Given the description of an element on the screen output the (x, y) to click on. 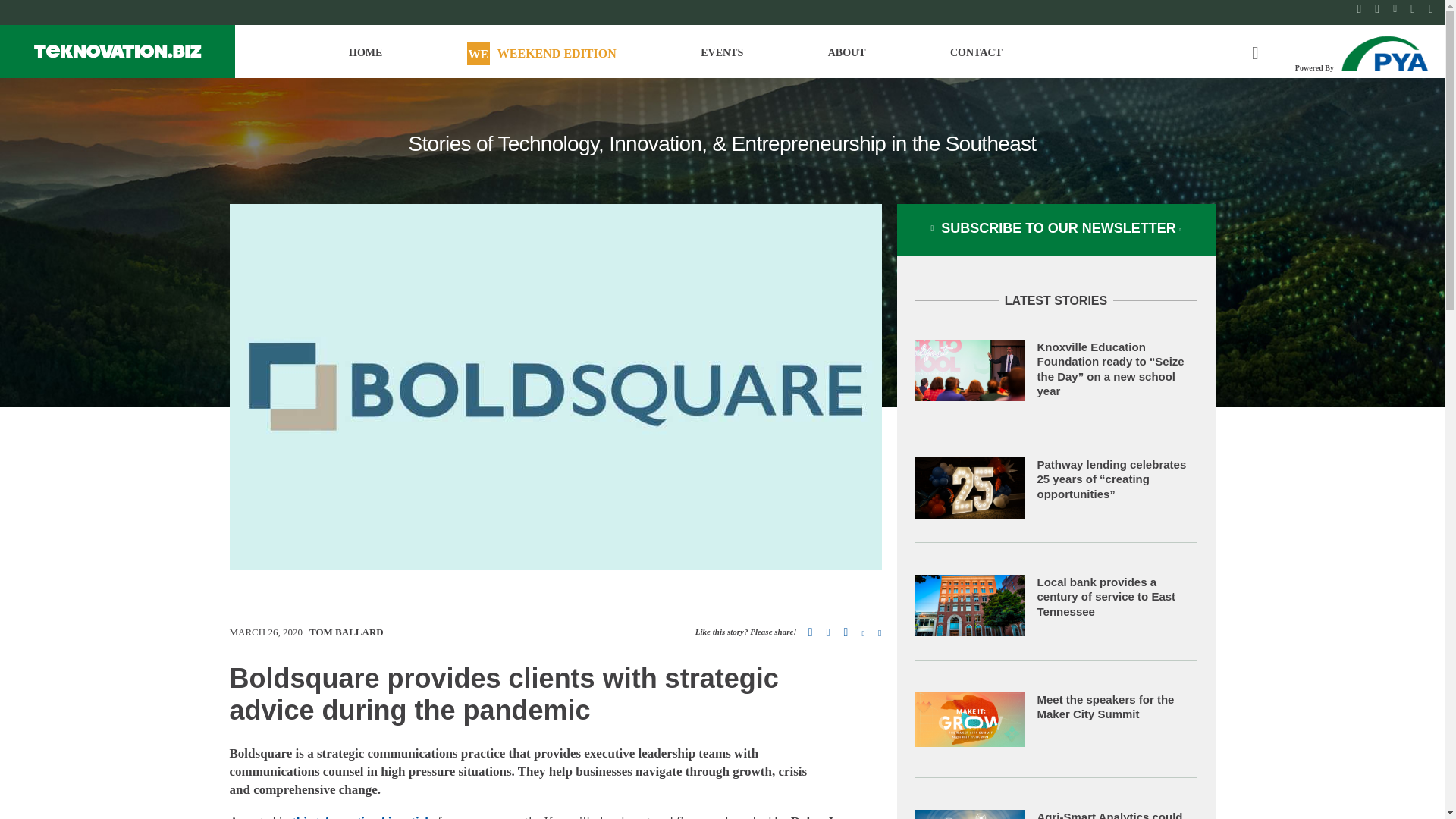
this teknovation.biz article (362, 816)
TOM BALLARD (346, 632)
WEEKEND EDITION (541, 59)
CONTACT (976, 59)
Meet the speakers for the Maker City Summit (1105, 706)
EVENTS (721, 59)
Local bank provides a century of service to East Tennessee (1106, 596)
HOME (365, 59)
Powered By (1363, 51)
ABOUT (847, 59)
